Given the description of an element on the screen output the (x, y) to click on. 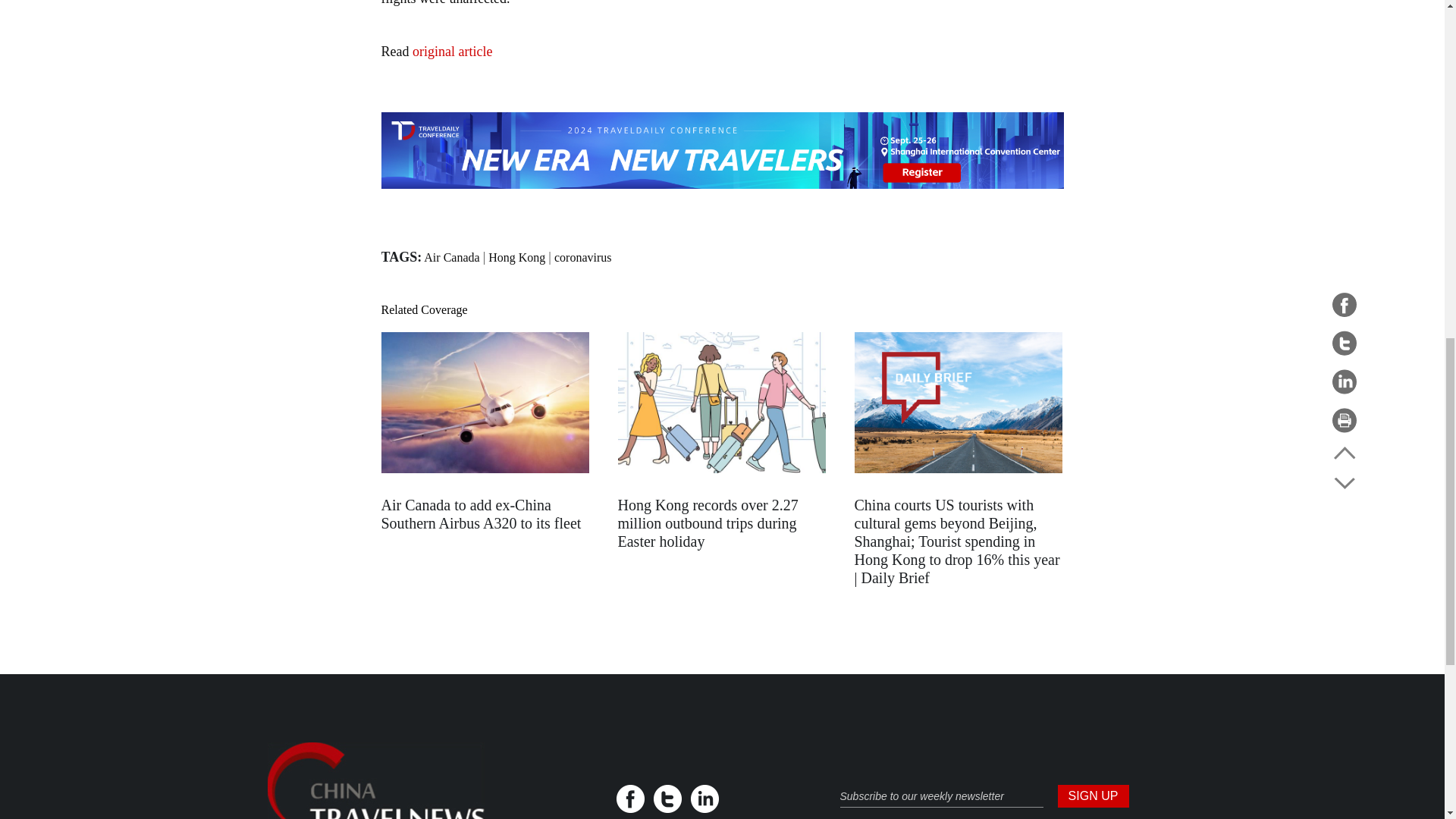
coronavirus (582, 256)
Air Canada to add ex-China Southern Airbus A320 to its fleet (480, 513)
SIGN UP (1092, 795)
original article (452, 51)
Hong Kong (515, 256)
Air Canada (451, 256)
